Given the description of an element on the screen output the (x, y) to click on. 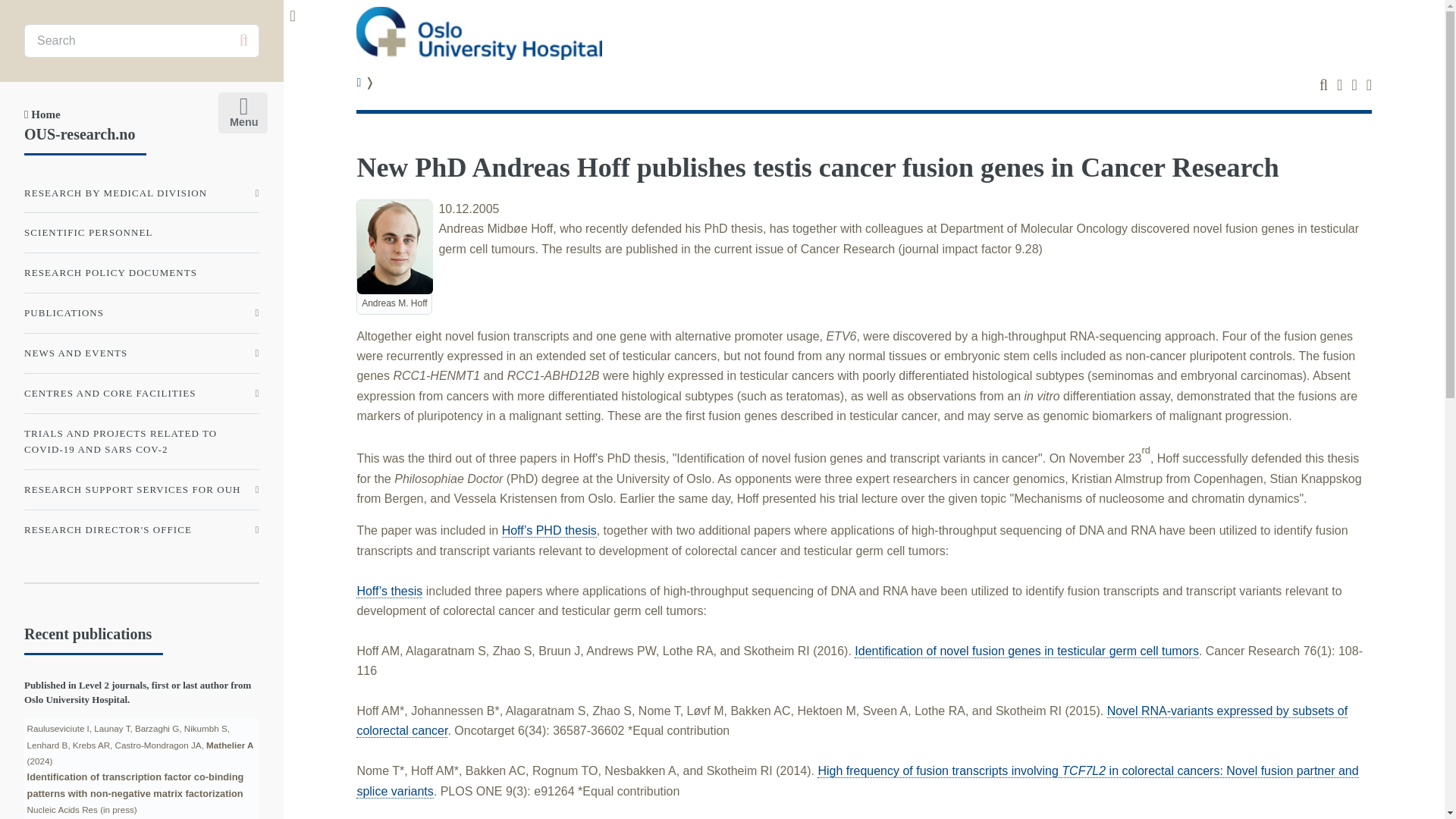
TRIALS AND PROJECTS RELATED TO COVID-19 AND SARS COV-2 (141, 441)
CENTRES AND CORE FACILITIES (141, 393)
RESEARCH BY MEDICAL DIVISION (141, 192)
SCIENTIFIC PERSONNEL (141, 232)
RESEARCH POLICY DOCUMENTS (141, 272)
Search (243, 40)
Novel RNA-variants expressed by subsets of colorectal cancer (852, 720)
Home (42, 114)
PUBLICATIONS (141, 312)
